Given the description of an element on the screen output the (x, y) to click on. 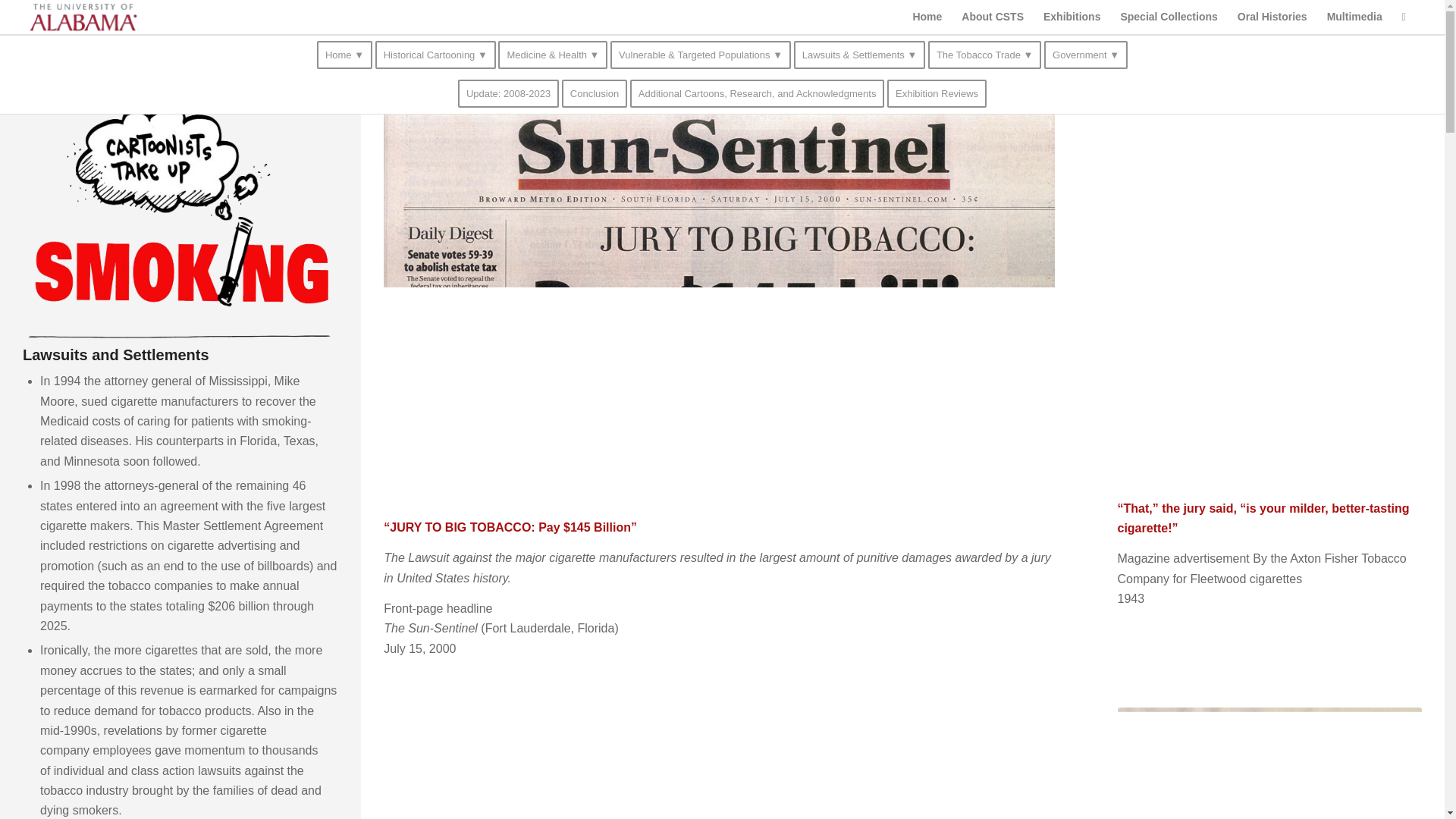
Oral Histories (1272, 17)
Multimedia (1354, 17)
Home (927, 17)
About CSTS (992, 17)
Special Collections (1168, 17)
Cartoonists Take Up Smoking Logo Square (180, 204)
Exhibitions (1071, 17)
Divide Line Narrow (180, 336)
